Given the description of an element on the screen output the (x, y) to click on. 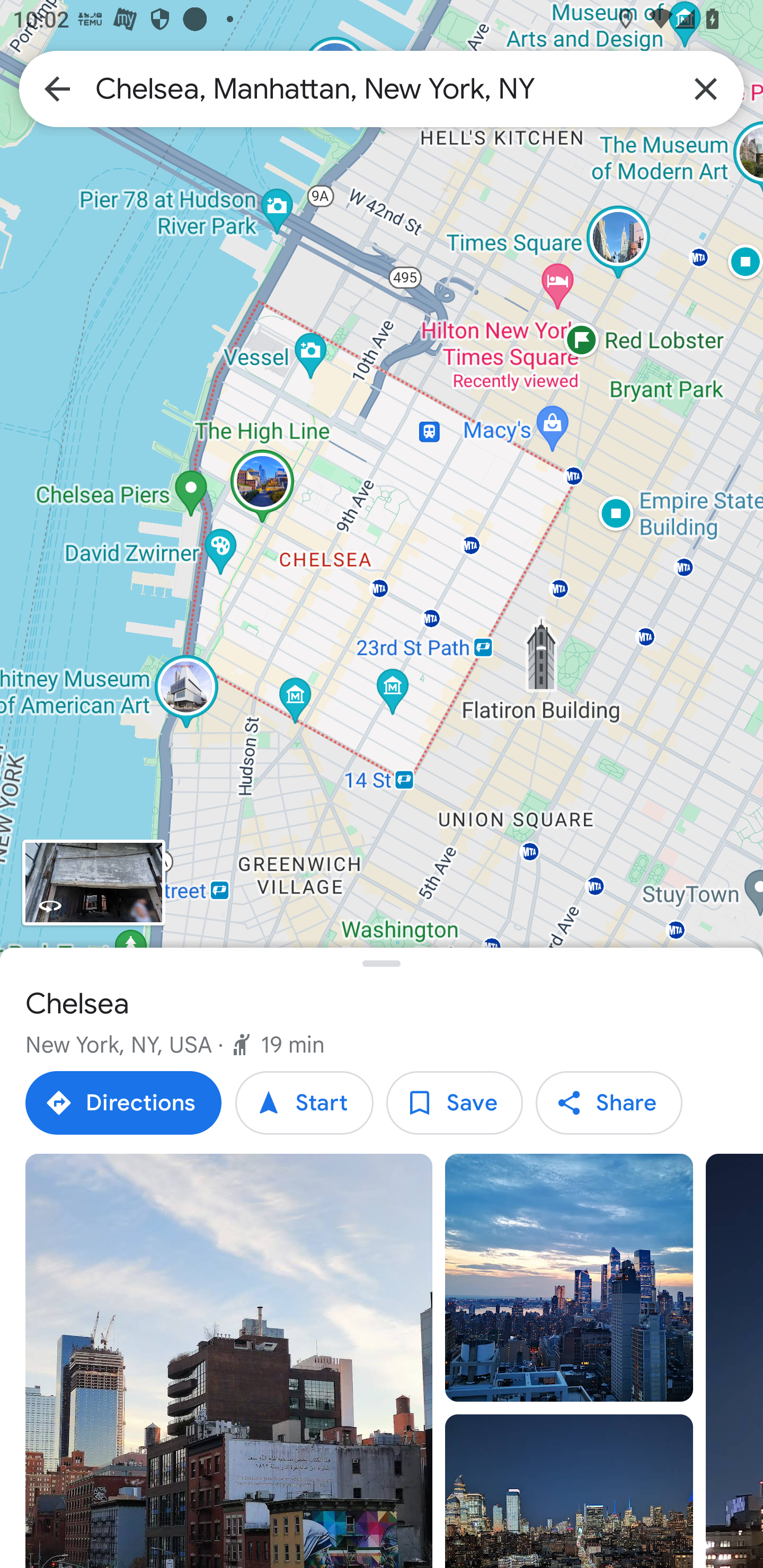
Back (57, 88)
Chelsea, Manhattan, New York, NY (381, 88)
Clear (705, 88)
View Street view imagery for Chelsea (93, 881)
Start Start Start (304, 1102)
Save Chelsea to lists Save Save Chelsea to lists (454, 1102)
Share Chelsea Share Share Chelsea (608, 1102)
Photo (228, 1361)
Photo (568, 1277)
Photo (568, 1491)
